Given the description of an element on the screen output the (x, y) to click on. 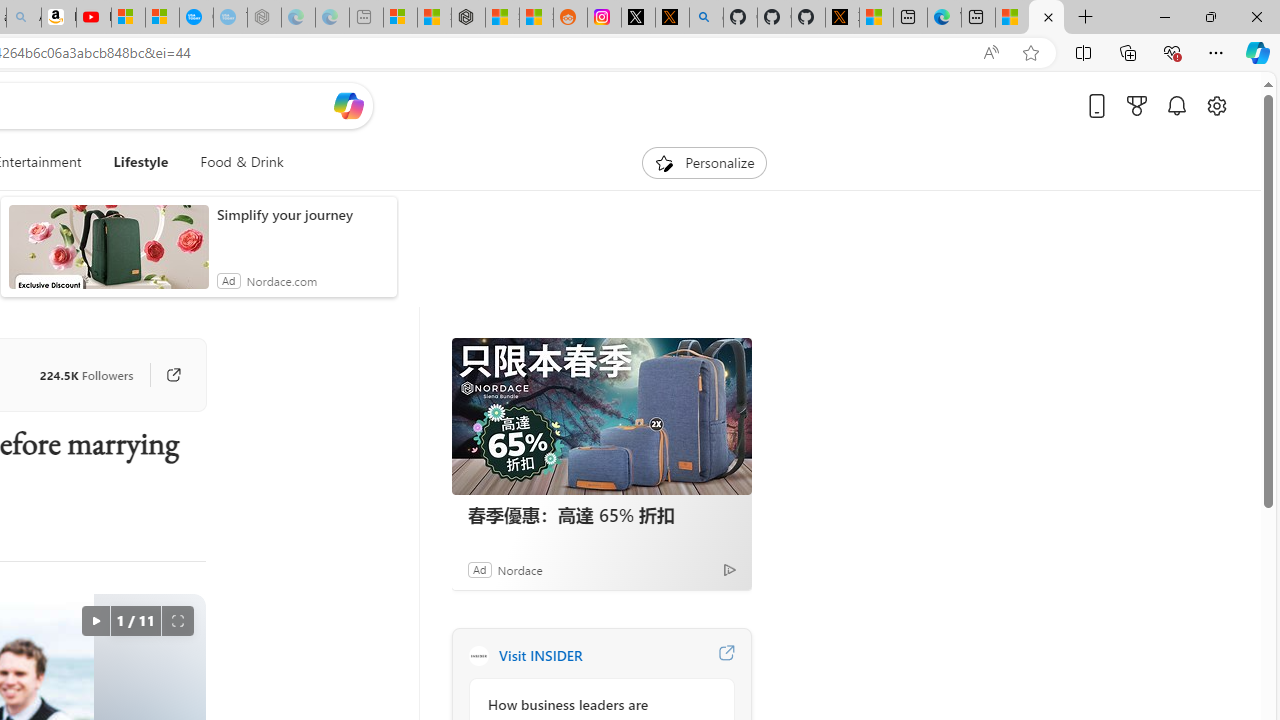
Food & Drink (234, 162)
Lifestyle (140, 162)
To get missing image descriptions, open the context menu. (664, 162)
anim-content (107, 255)
Nordace - Duffels (468, 17)
